Given the description of an element on the screen output the (x, y) to click on. 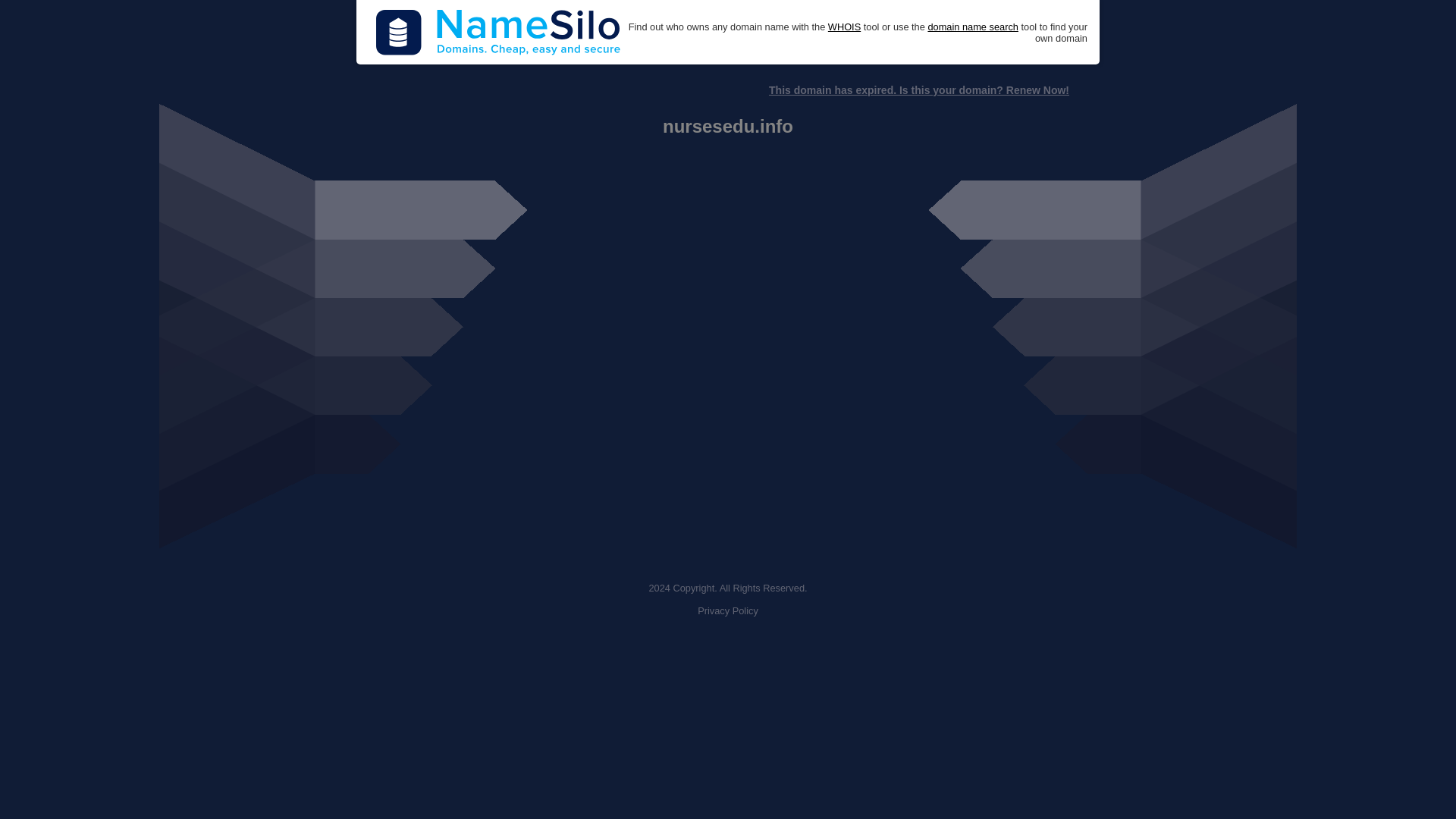
Privacy Policy (727, 610)
WHOIS (844, 26)
domain name search (972, 26)
This domain has expired. Is this your domain? Renew Now! (918, 90)
